Given the description of an element on the screen output the (x, y) to click on. 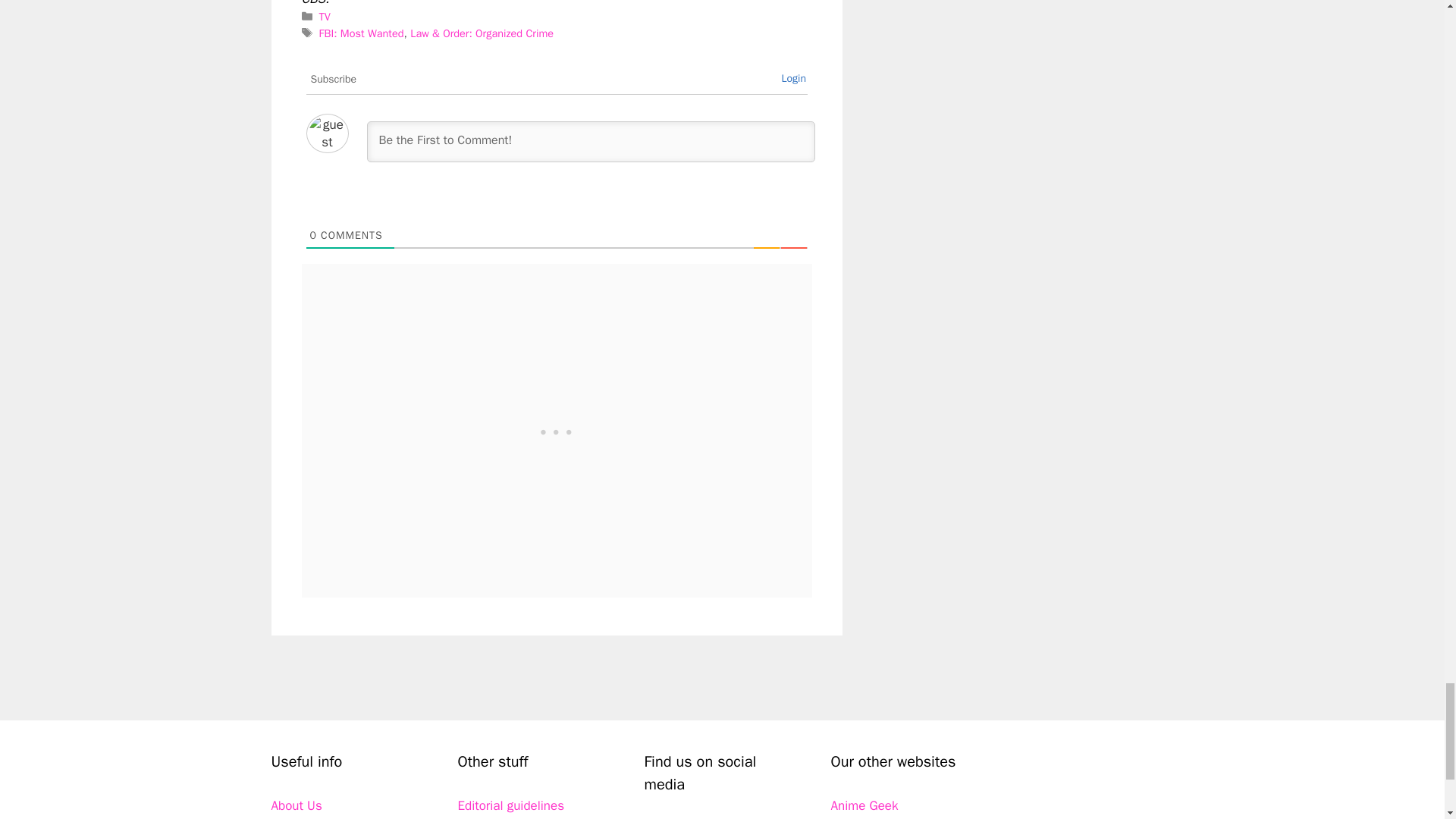
Editorial guidelines (511, 805)
FBI: Most Wanted (361, 33)
About Us (295, 805)
Login (793, 78)
